Given the description of an element on the screen output the (x, y) to click on. 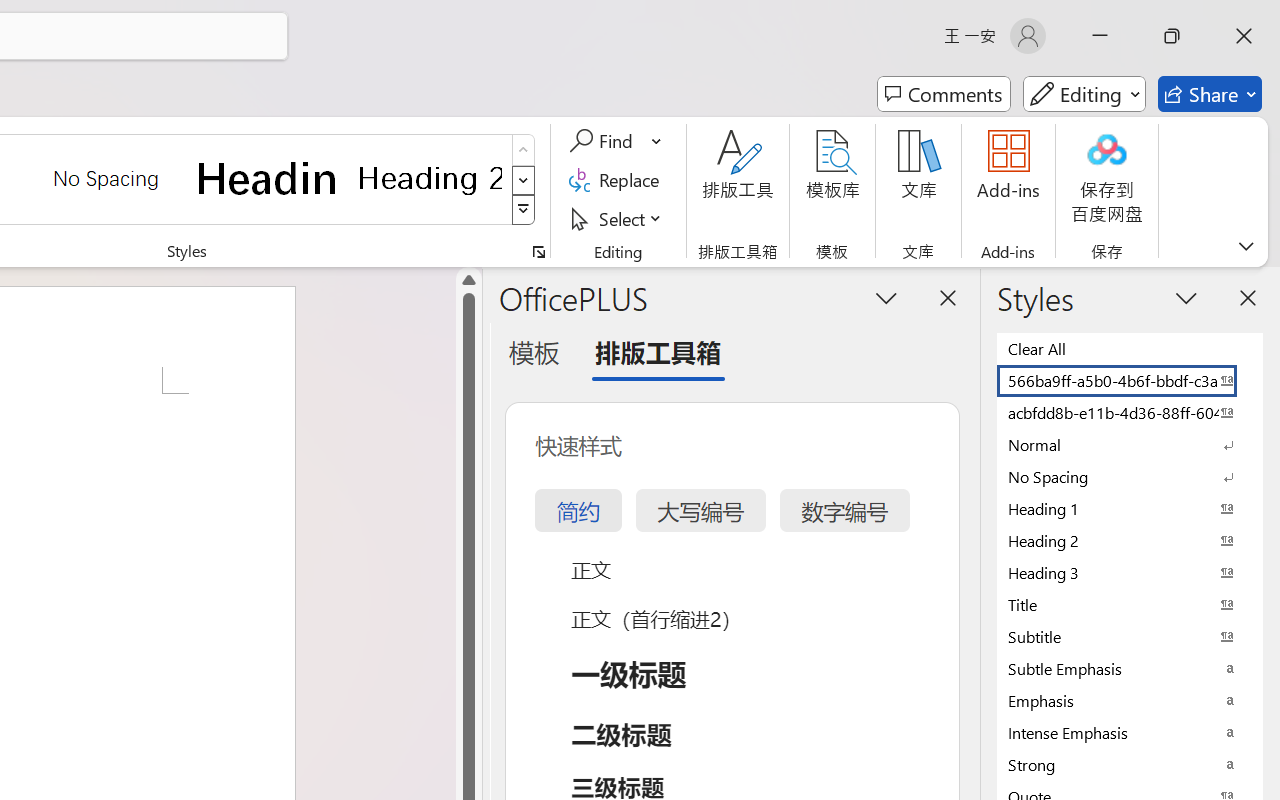
No Spacing (1130, 476)
Find (604, 141)
Heading 1 (267, 178)
Line up (468, 279)
Clear All (1130, 348)
acbfdd8b-e11b-4d36-88ff-6049b138f862 (1130, 412)
Styles... (538, 252)
Subtitle (1130, 636)
Subtle Emphasis (1130, 668)
